Given the description of an element on the screen output the (x, y) to click on. 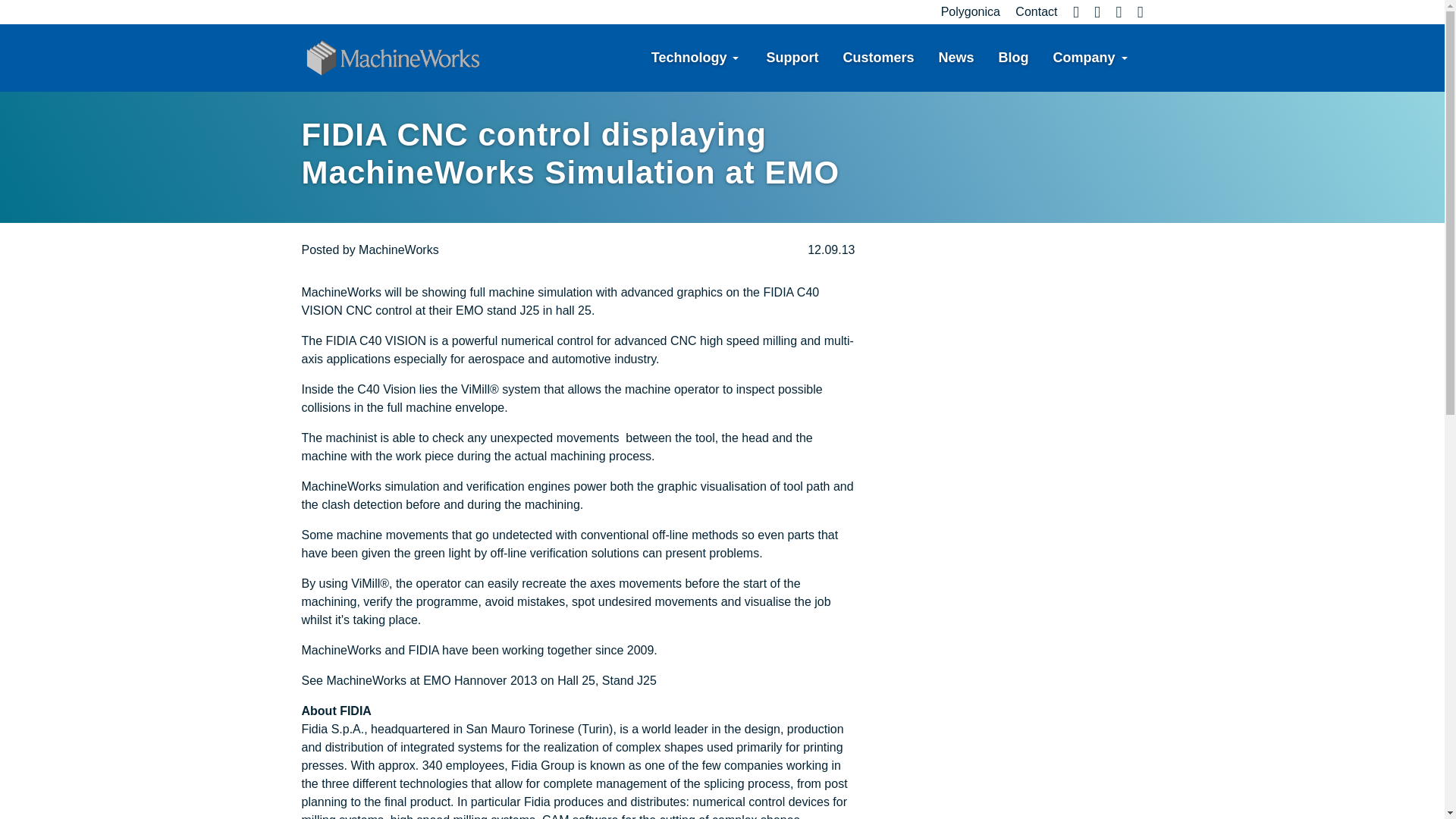
Polygonica (964, 11)
Company (1083, 57)
Visit MachineWorks' Twitter profile (1090, 11)
Visit MachineWorks' LinkedIn profile (1112, 11)
Visit MachineWorks' Instagram (1133, 11)
Customers (877, 57)
Technology (689, 57)
MachineWorks (398, 249)
Support (791, 57)
Blog (1013, 57)
